Given the description of an element on the screen output the (x, y) to click on. 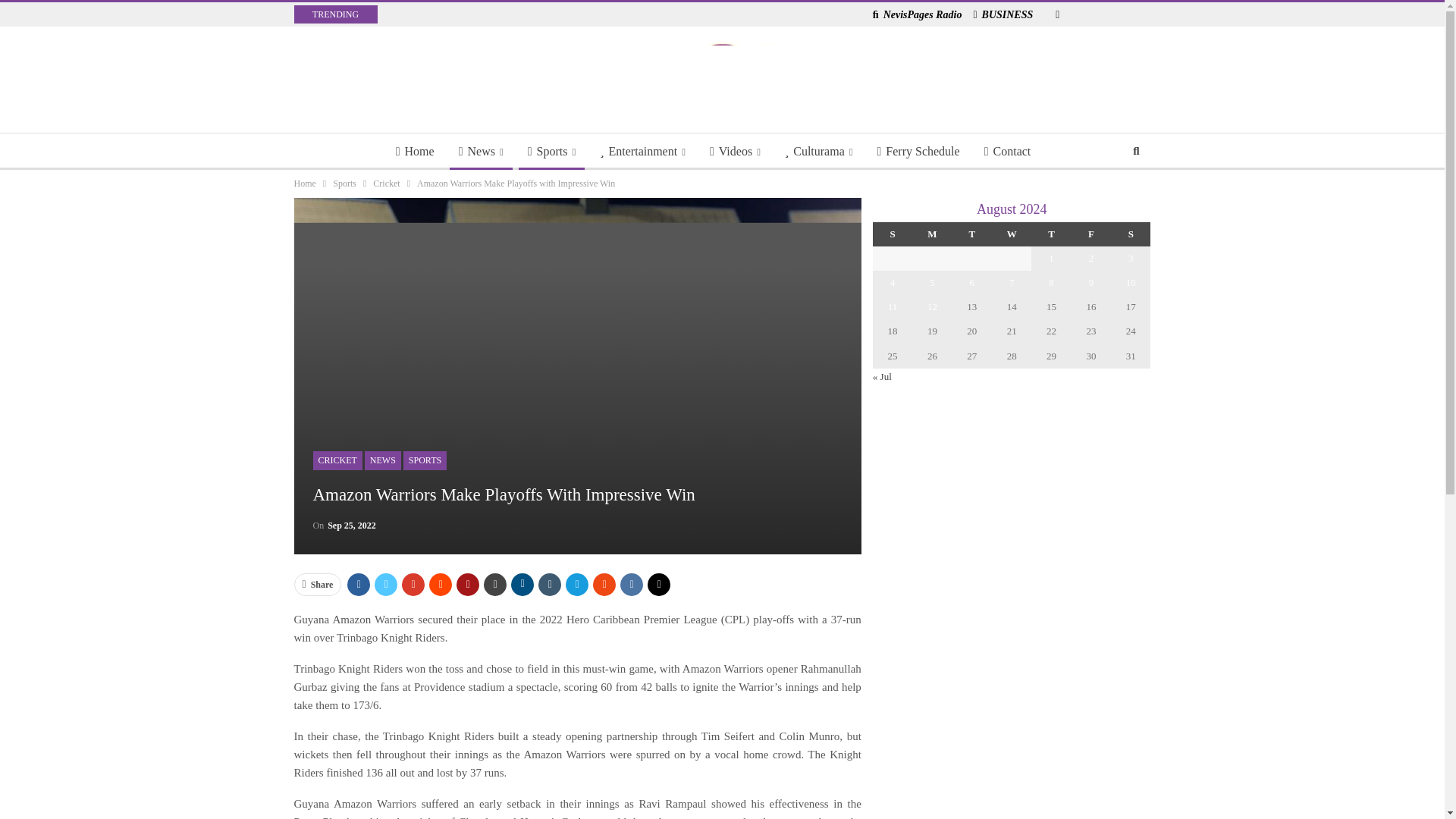
Home (415, 151)
BUSINESS (1002, 14)
News (480, 151)
NevisPages Radio (917, 14)
